Given the description of an element on the screen output the (x, y) to click on. 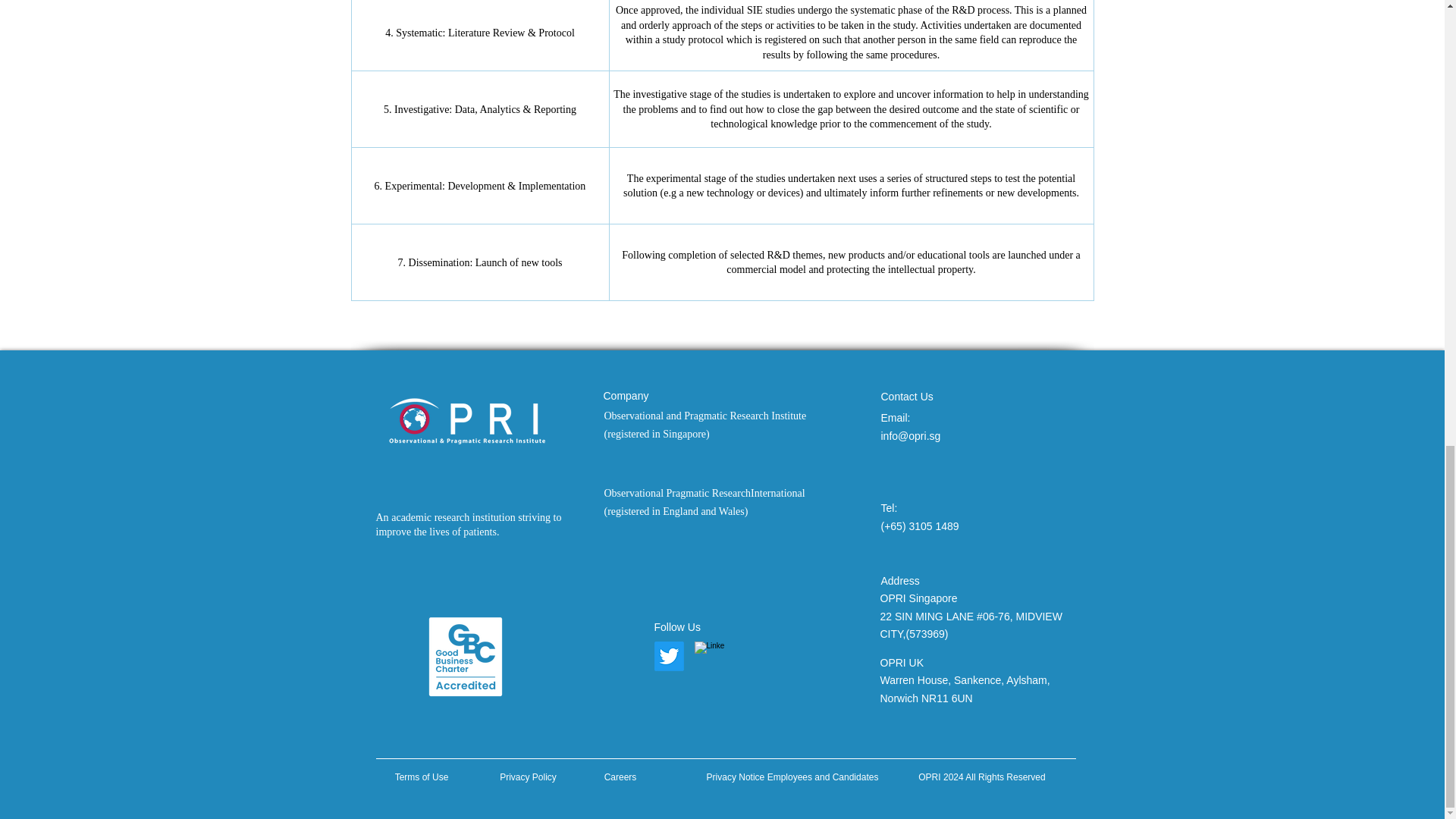
Careers (620, 777)
Privacy Notice Employees and Candidates (792, 773)
Privacy Policy (527, 777)
Terms of Use (421, 777)
